Given the description of an element on the screen output the (x, y) to click on. 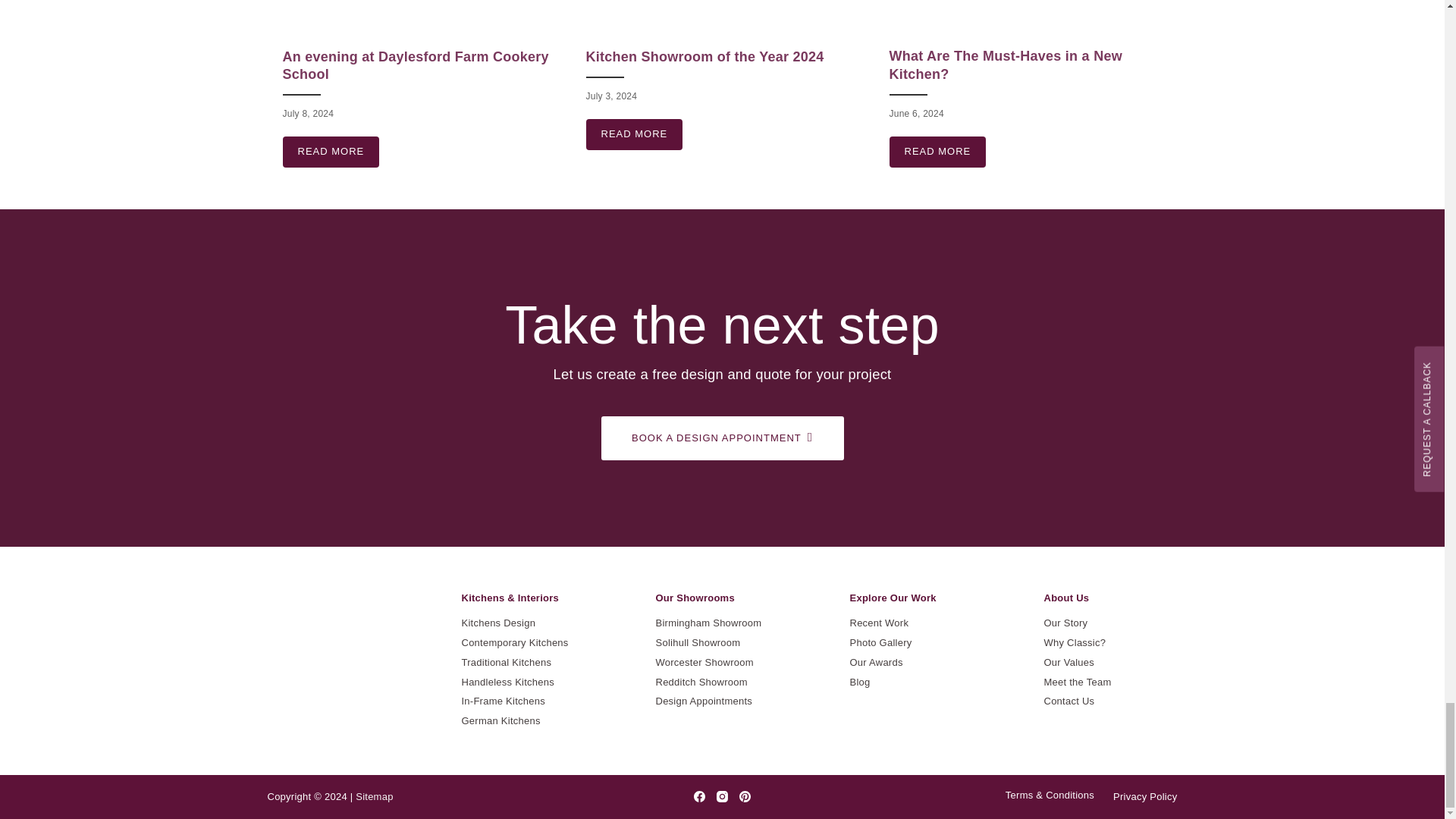
An evening at Daylesford Farm Cookery School (330, 151)
Kitchen Showroom of the Year 2024 (633, 133)
What Are The Must-Haves in a New Kitchen? (1004, 64)
Kitchen Showroom of the Year 2024 (704, 56)
An evening at Daylesford Farm Cookery School (415, 65)
Classic-Worcester-1 (1024, 18)
What Are The Must-Haves in a New Kitchen? (936, 151)
